Given the description of an element on the screen output the (x, y) to click on. 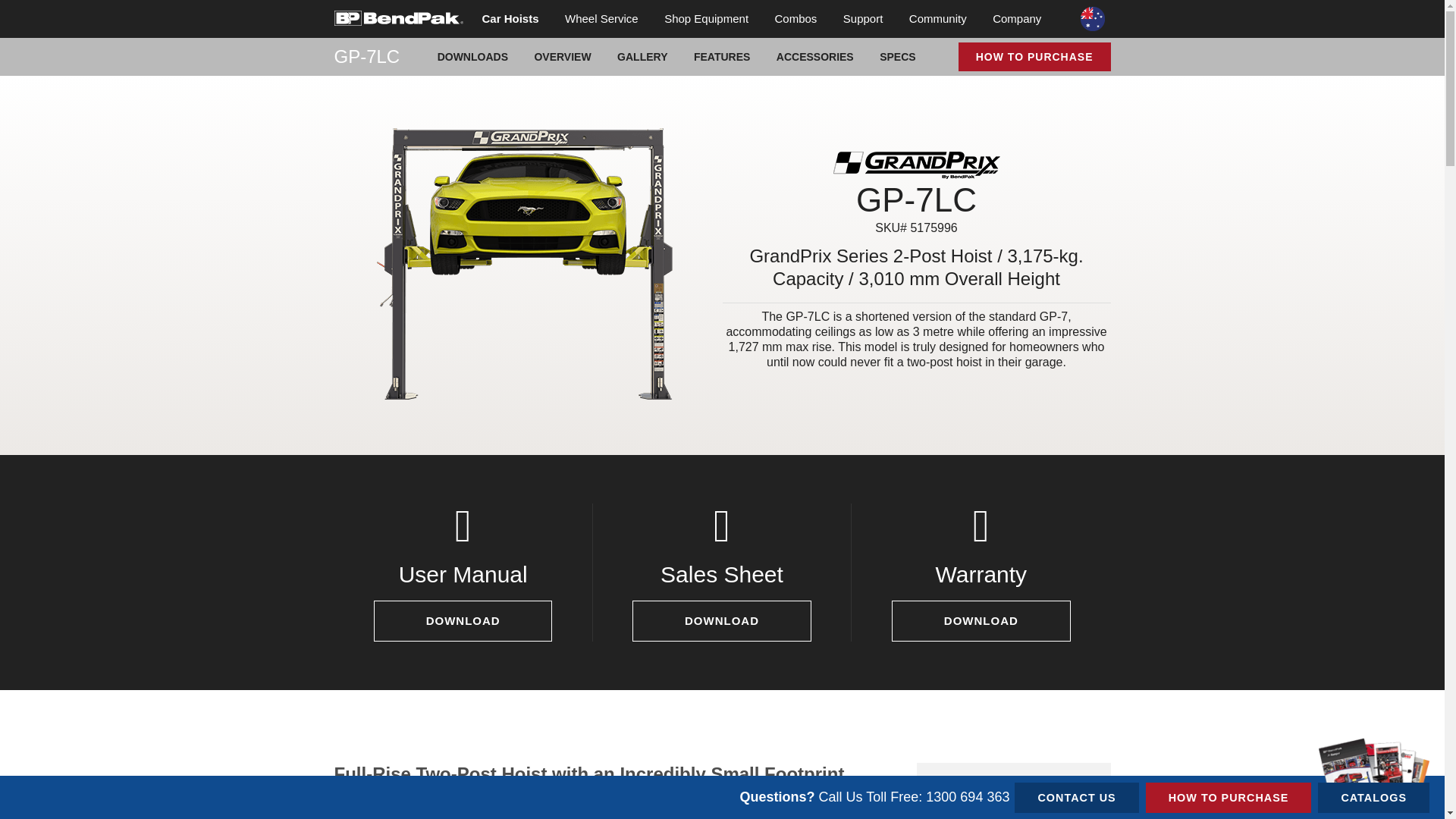
Car Hoists (510, 18)
on (338, 4)
BendPak (398, 17)
Wheel Service (601, 18)
Shop Equipment (706, 18)
